Given the description of an element on the screen output the (x, y) to click on. 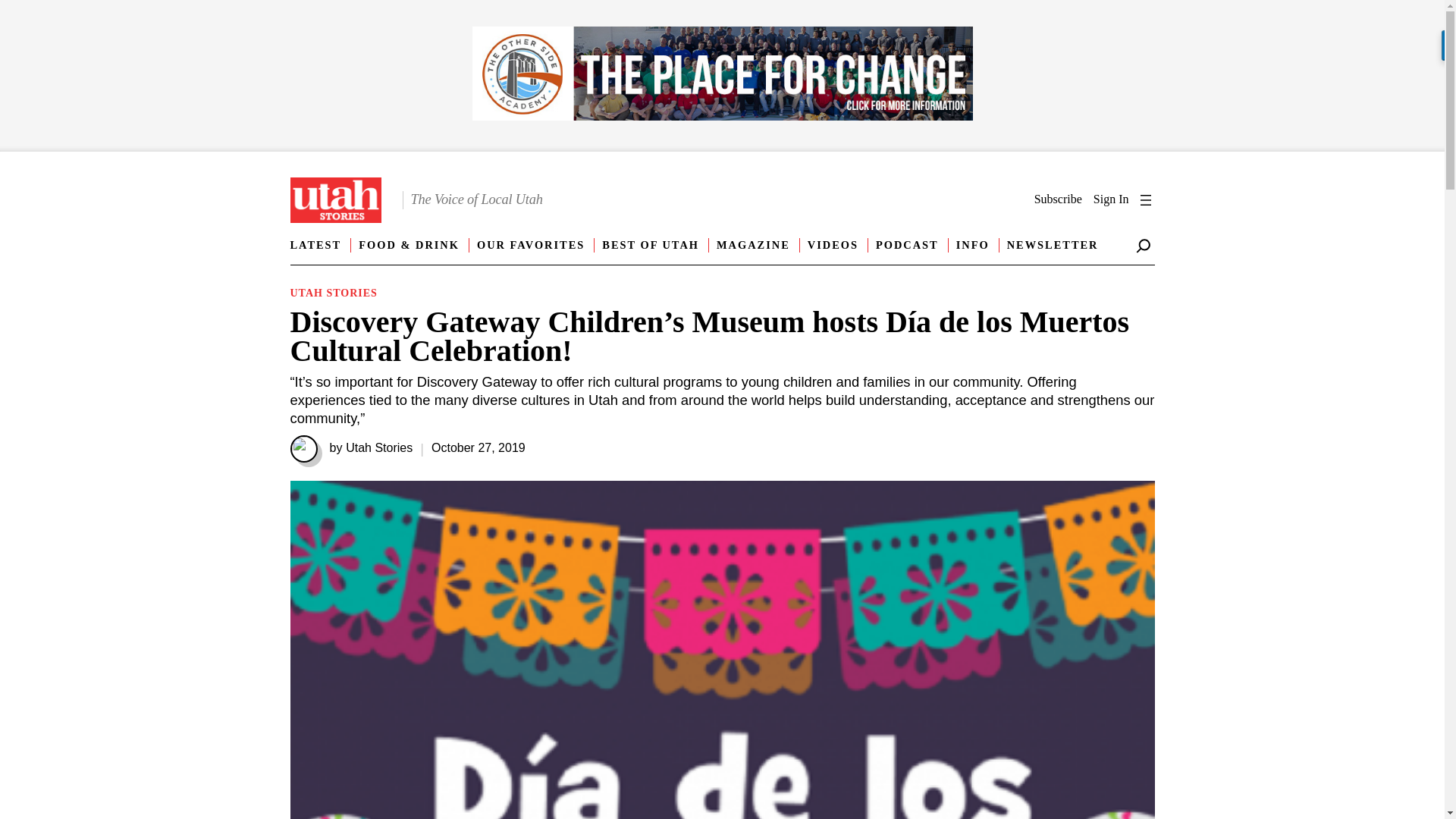
Subscribe (1057, 199)
Sign In (1111, 199)
banner display ad (721, 75)
